Given the description of an element on the screen output the (x, y) to click on. 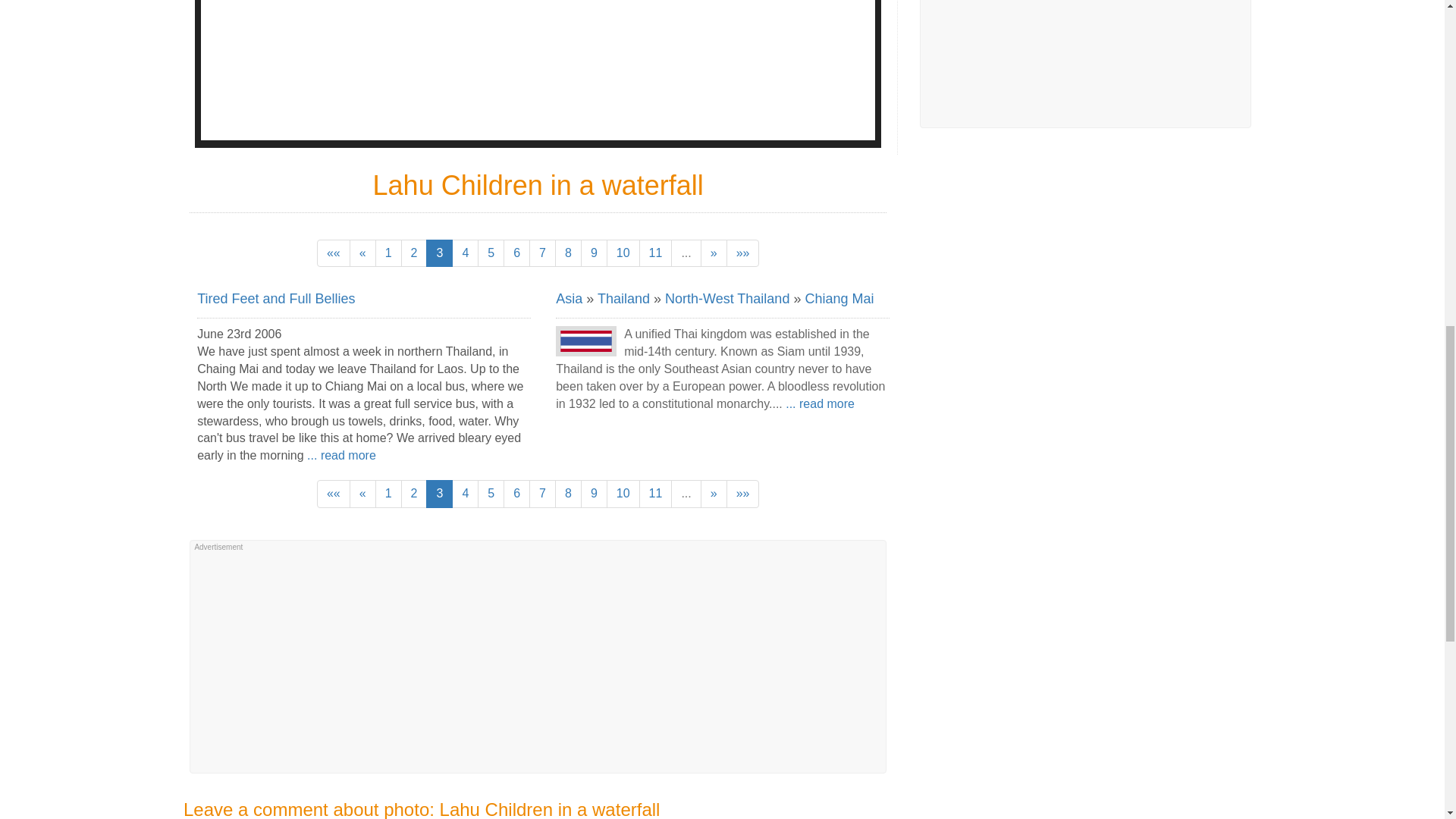
Lahu Children in a waterfall (537, 70)
next (713, 253)
First (333, 253)
Last (743, 253)
Previous (362, 253)
